Given the description of an element on the screen output the (x, y) to click on. 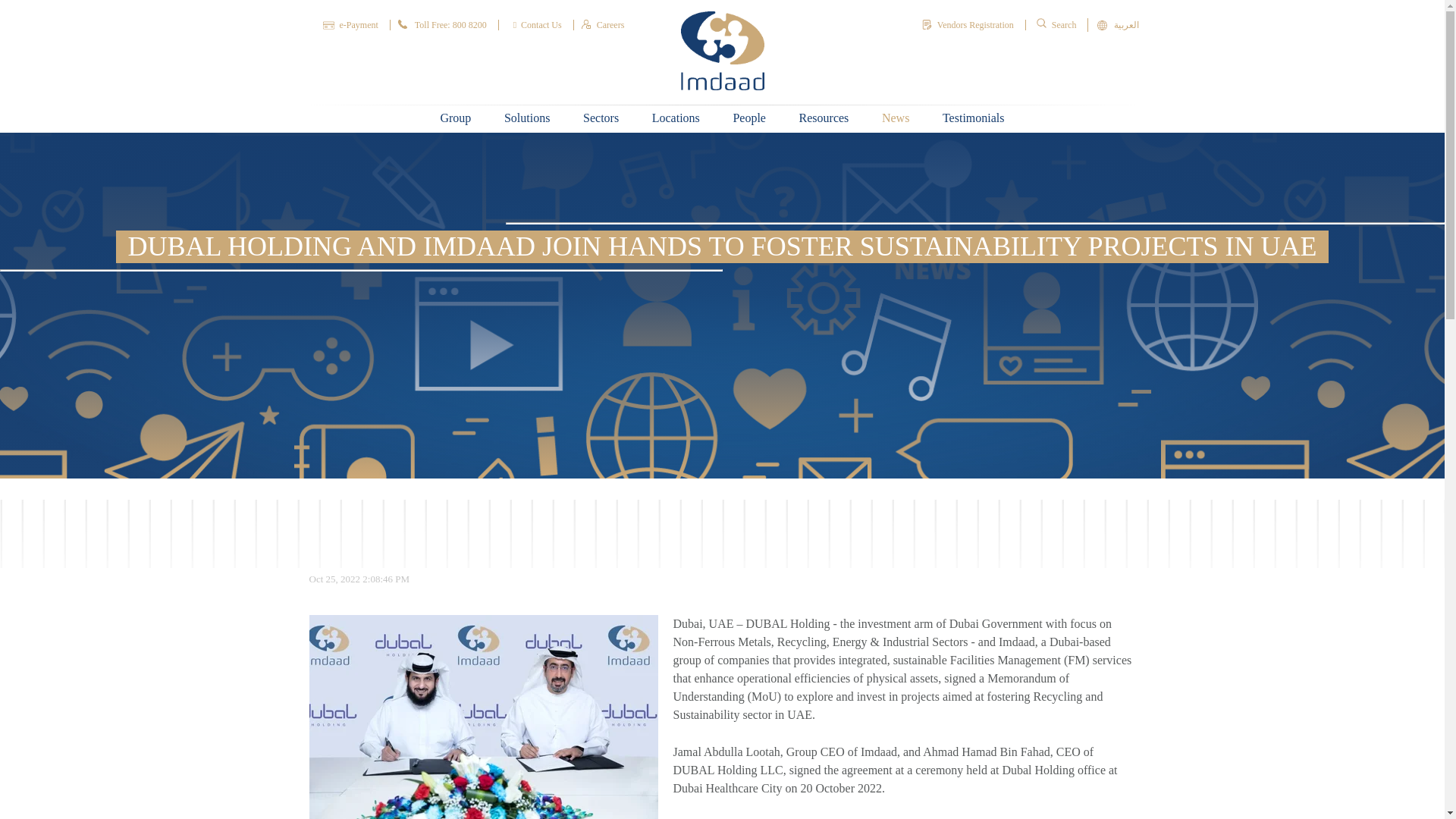
vast.png (722, 50)
Careers (608, 24)
Solutions (526, 120)
Vendors Registration (973, 24)
e-Payment (356, 24)
Group (455, 120)
Toll Free: 800 8200 (448, 24)
  Contact Us (537, 24)
